Given the description of an element on the screen output the (x, y) to click on. 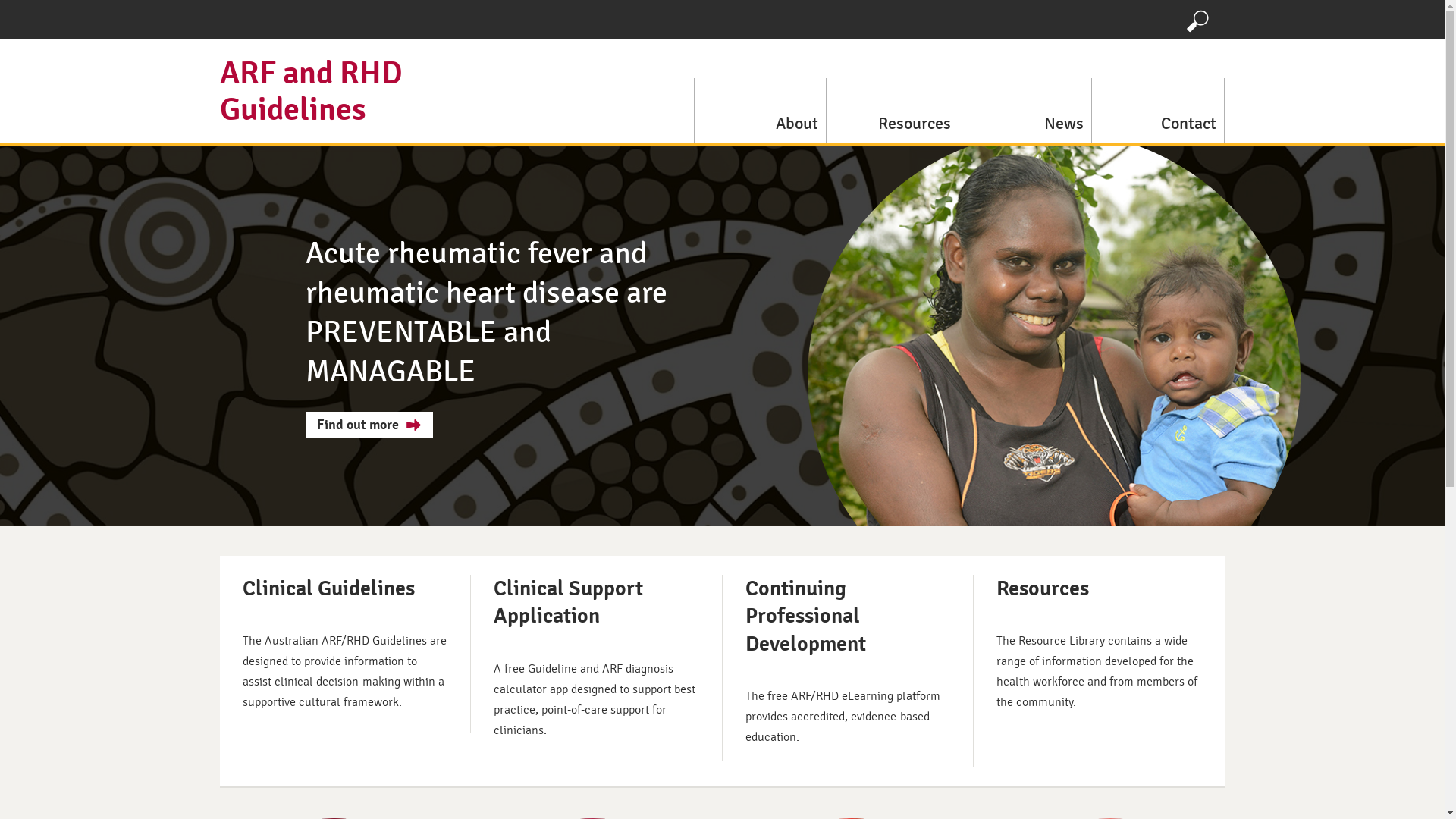
Skip to main content Element type: text (59, 0)
News Element type: text (1025, 110)
ARF and RHD
Guidelines Element type: text (310, 90)
Search Element type: text (1197, 19)
Find out more Element type: text (369, 424)
Contact Element type: text (1158, 110)
Resources Element type: text (892, 110)
About Element type: text (759, 110)
